Given the description of an element on the screen output the (x, y) to click on. 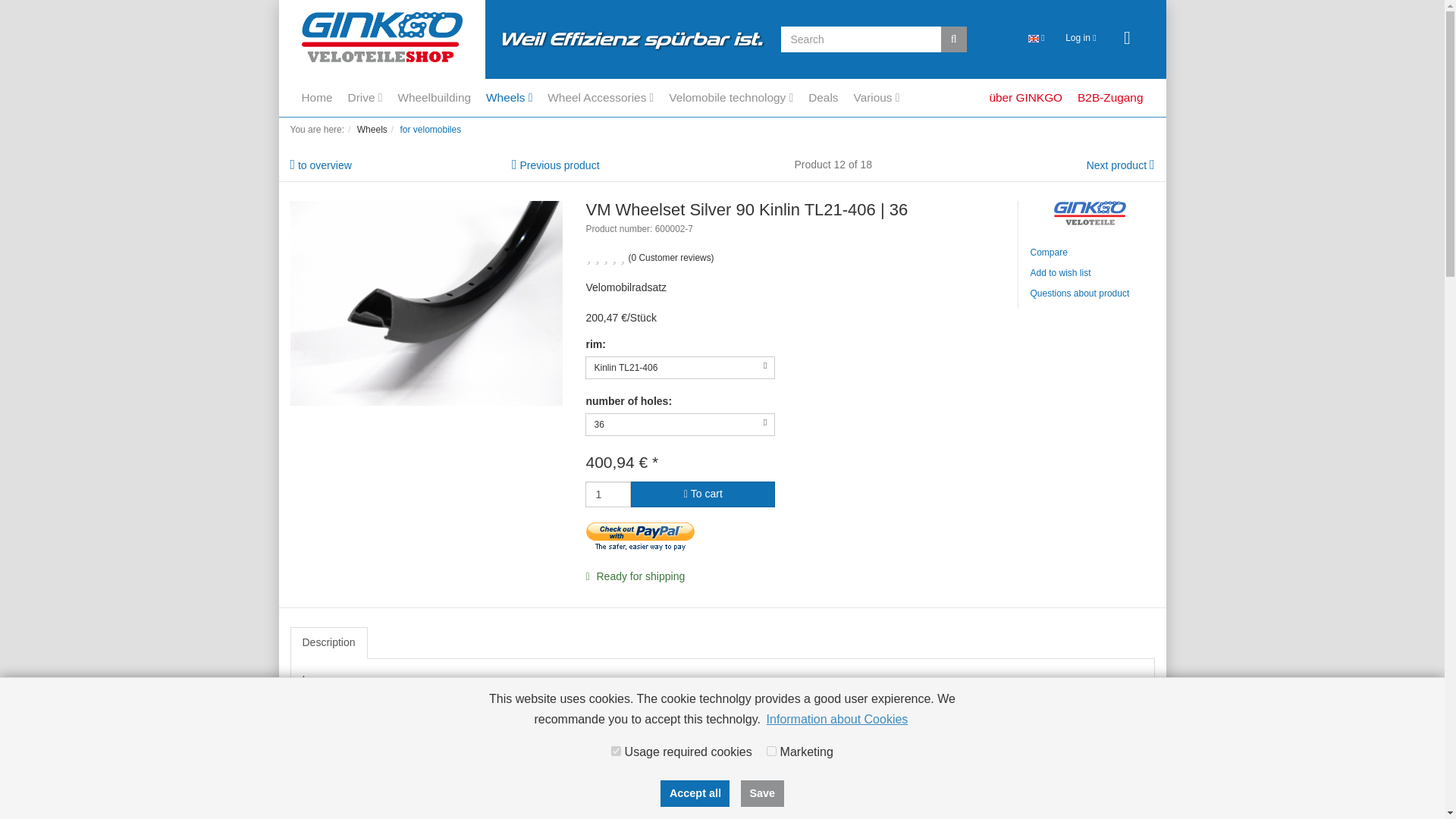
1 (640, 538)
Wheelbuilding (441, 97)
ESSENTIAL (616, 750)
for velomobiles (429, 129)
Velomobile technology (738, 97)
Please log in for rating! (671, 256)
Drive (372, 97)
MARKETING (771, 750)
1 (607, 493)
Log in (1081, 38)
